Given the description of an element on the screen output the (x, y) to click on. 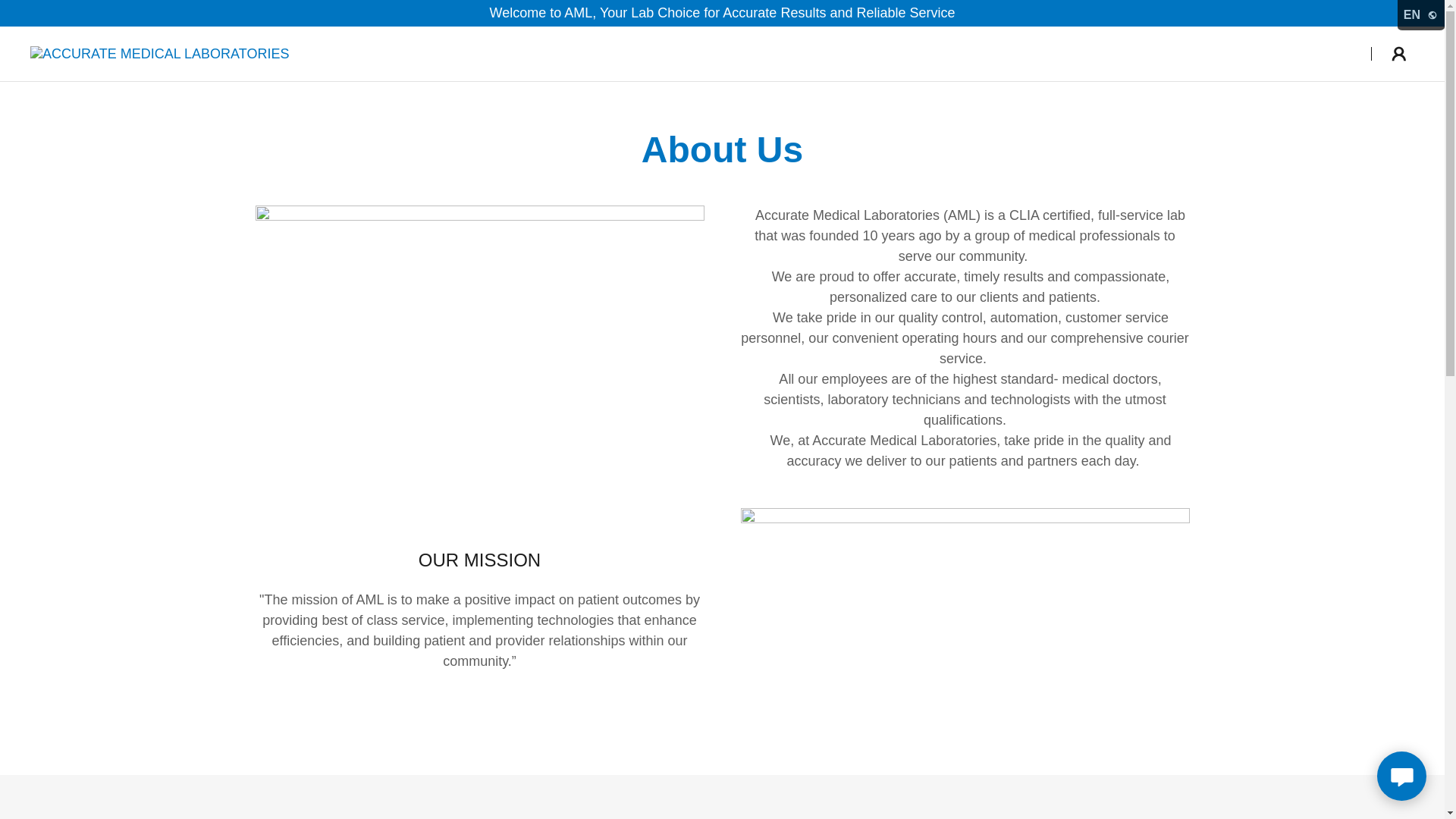
ACCURATE MEDICAL LABORATORIES (159, 52)
